Given the description of an element on the screen output the (x, y) to click on. 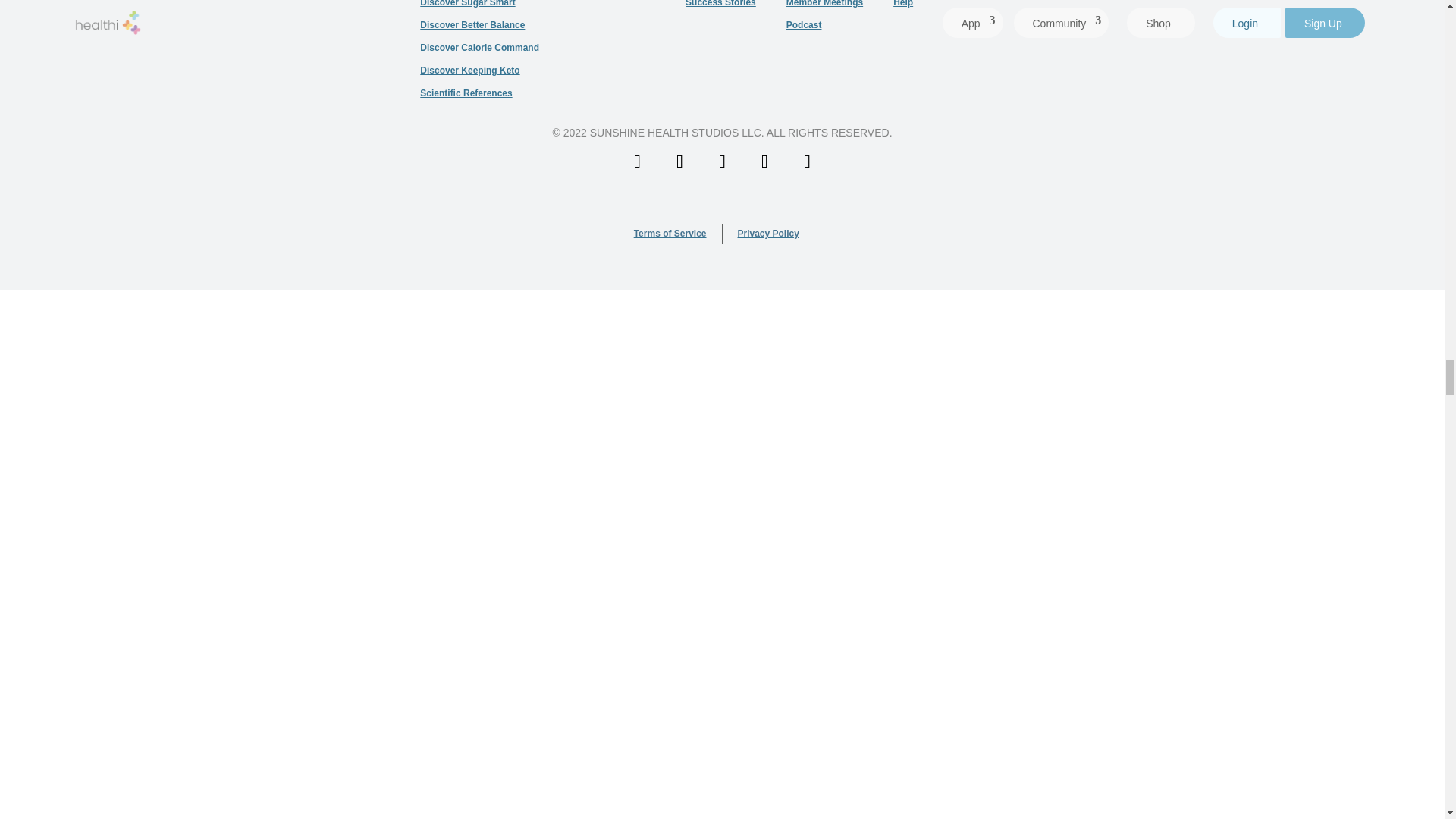
Follow on Pinterest (764, 161)
Follow on Facebook (721, 161)
Follow on X (807, 161)
Follow on Youtube (636, 161)
Is Keto Right for You? (259, 98)
Follow on Instagram (679, 161)
